Given the description of an element on the screen output the (x, y) to click on. 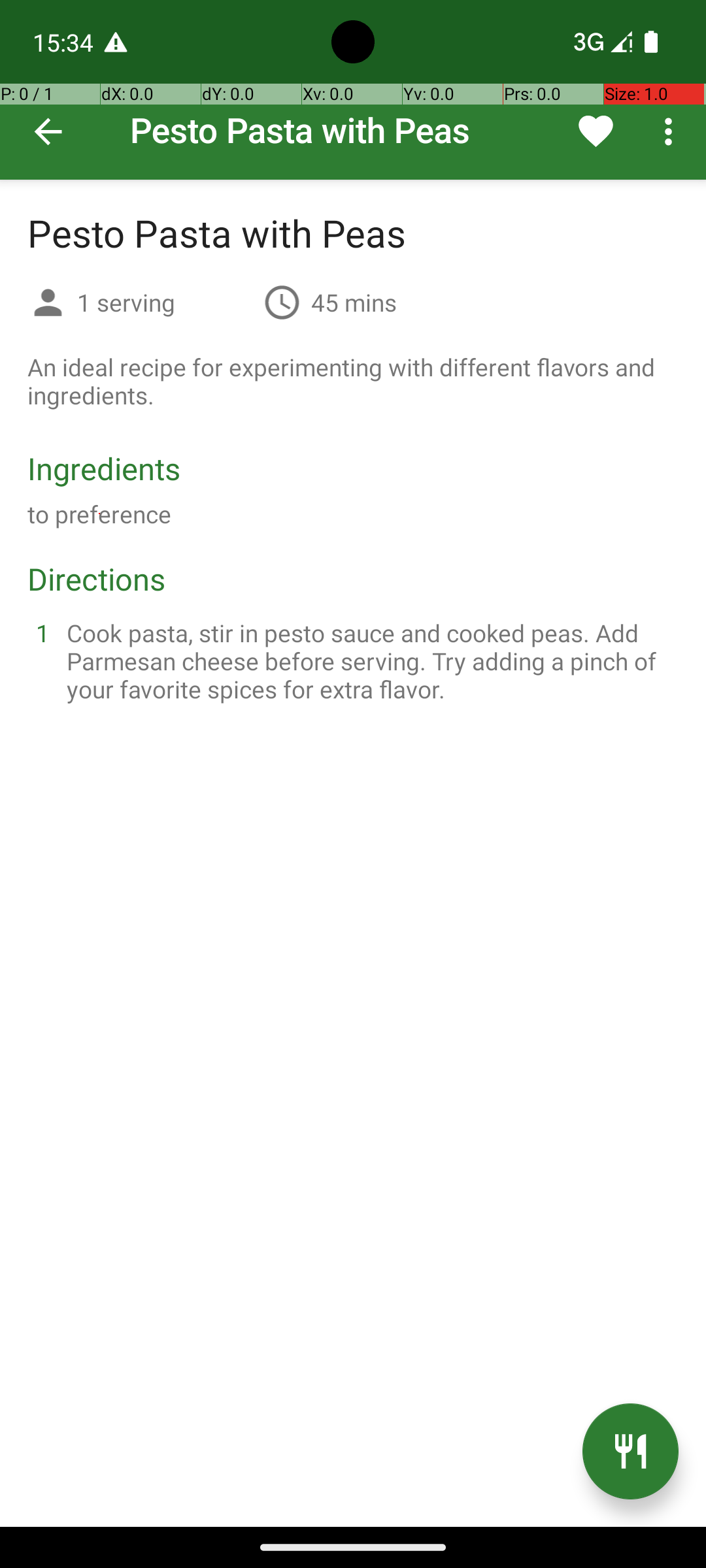
Pesto Pasta with Peas Element type: android.widget.FrameLayout (353, 89)
Cook Element type: android.widget.ImageButton (630, 1451)
Remove from favorites Element type: android.widget.Button (595, 131)
Servings Element type: android.widget.ImageView (47, 303)
1 serving Element type: android.widget.TextView (164, 301)
45 mins Element type: android.widget.TextView (353, 301)
An ideal recipe for experimenting with different flavors and ingredients. Element type: android.widget.TextView (352, 380)
to preference Element type: android.widget.TextView (99, 513)
Directions Element type: android.widget.TextView (96, 578)
Cook pasta, stir in pesto sauce and cooked peas. Add Parmesan cheese before serving. Try adding a pinch of your favorite spices for extra flavor. Element type: android.widget.TextView (368, 660)
